Given the description of an element on the screen output the (x, y) to click on. 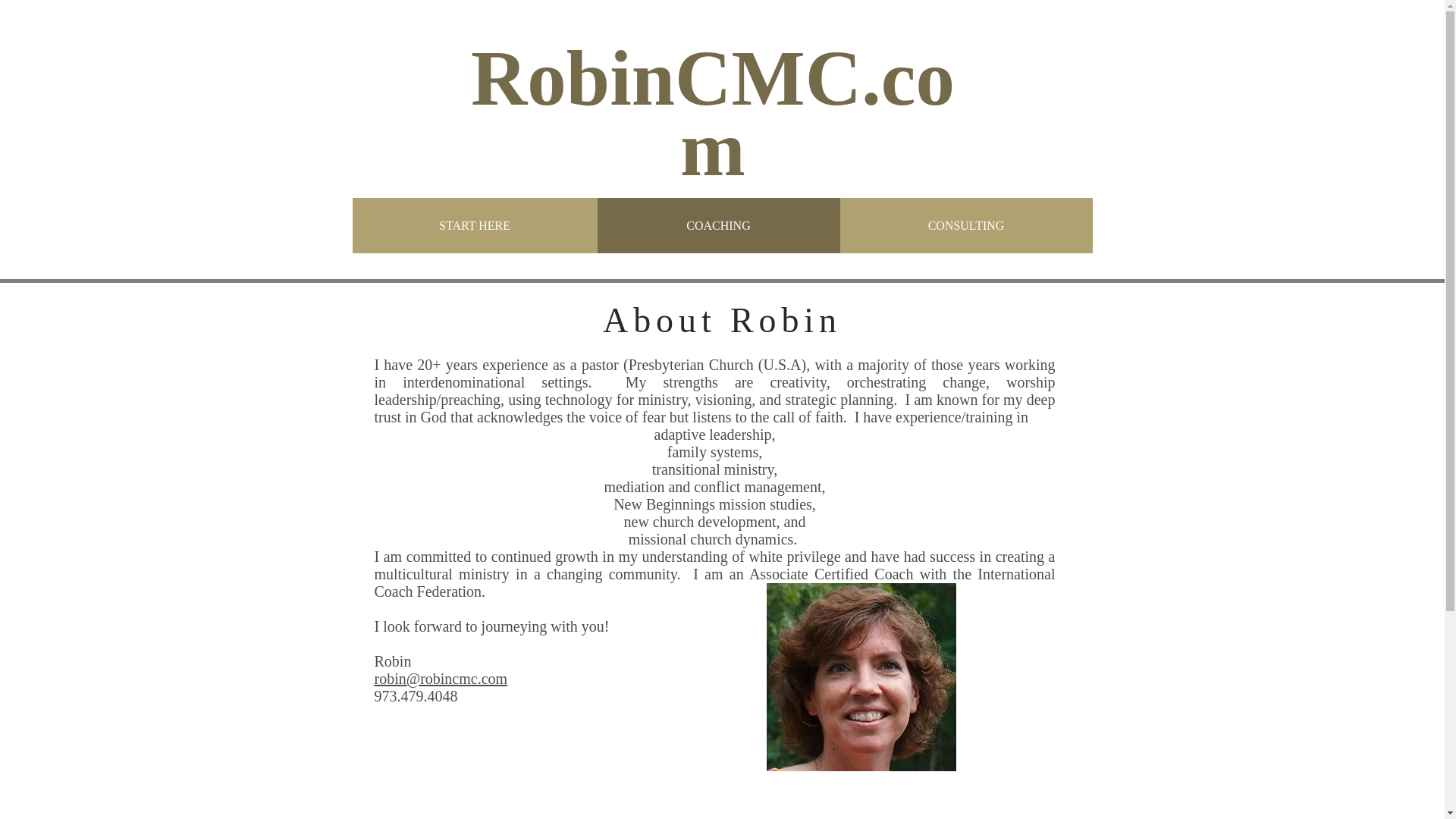
START HERE (474, 225)
CONSULTING (965, 225)
COACHING (718, 225)
